Given the description of an element on the screen output the (x, y) to click on. 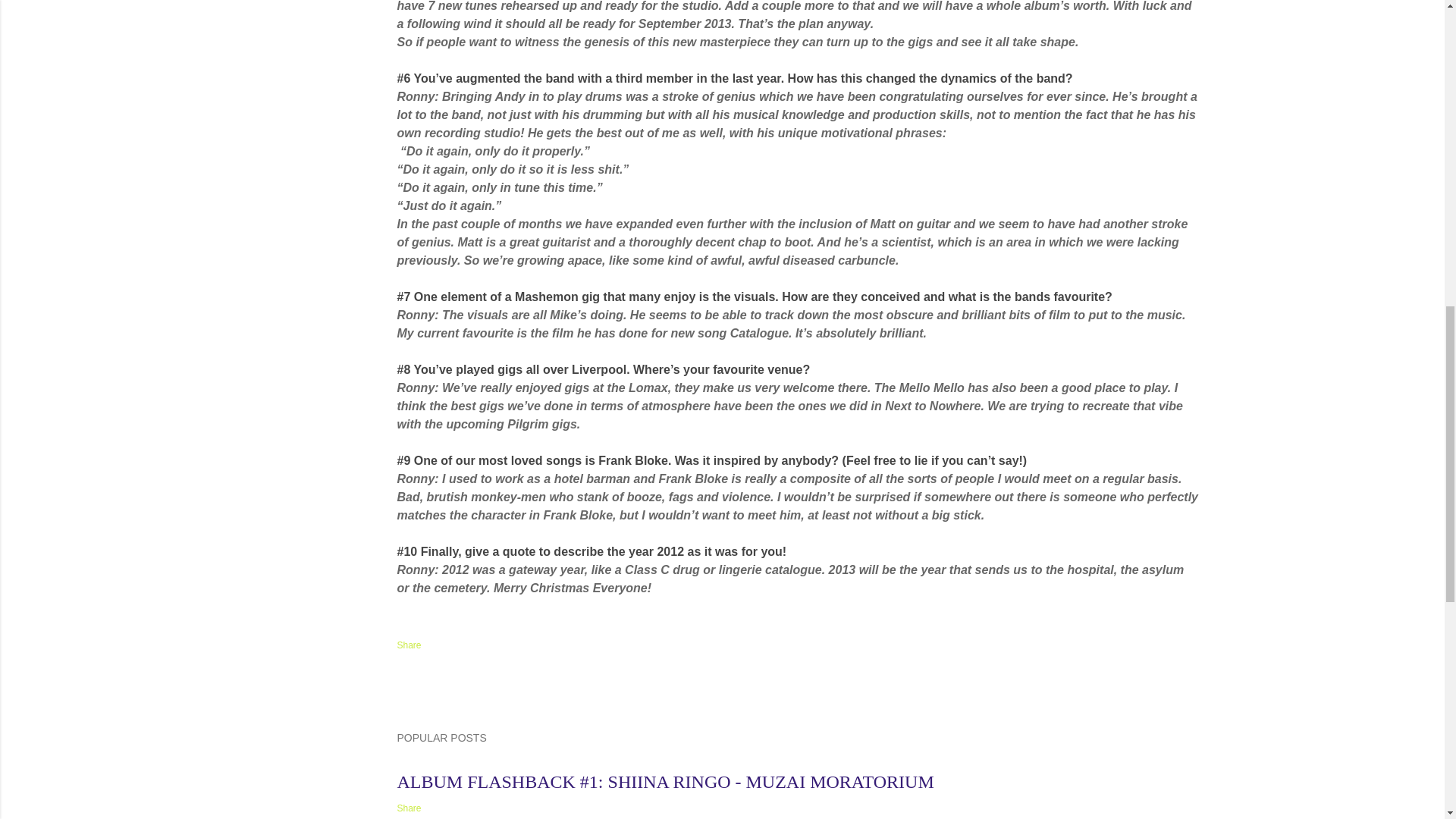
May 22, 2013 (424, 762)
Share (409, 644)
Share (409, 808)
permanent link (424, 762)
